Given the description of an element on the screen output the (x, y) to click on. 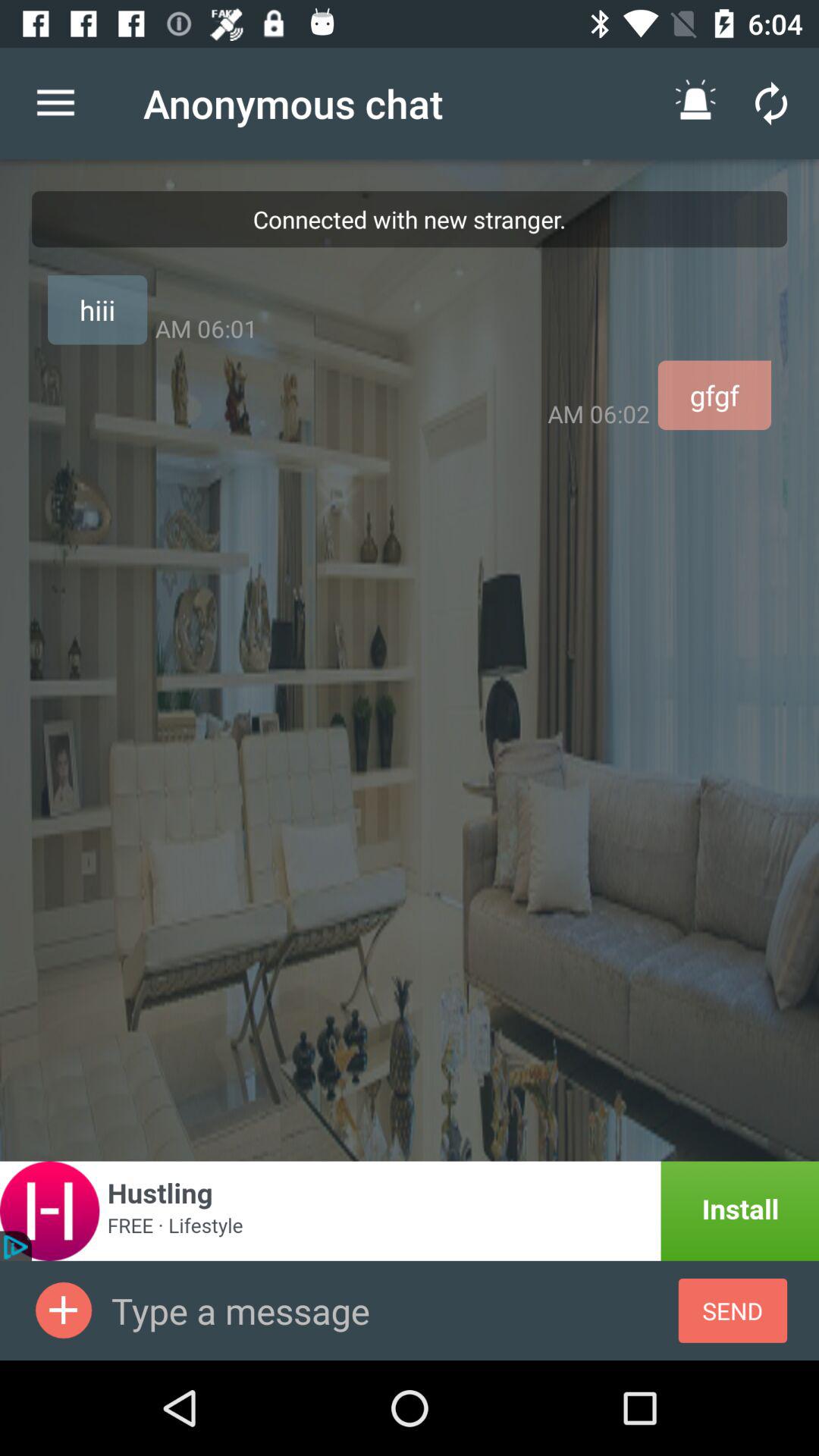
advertisements image (63, 1310)
